Given the description of an element on the screen output the (x, y) to click on. 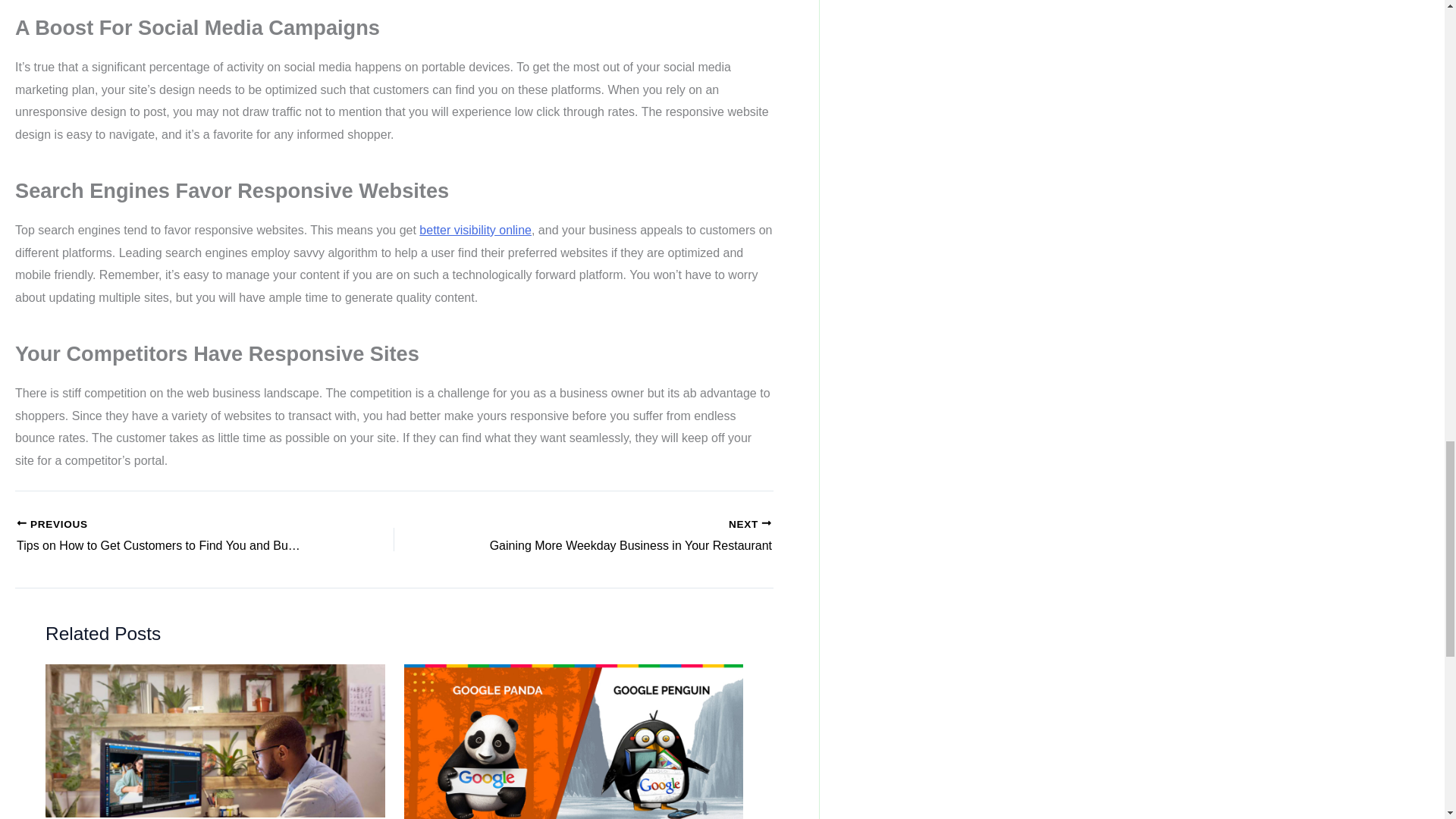
better visibility online (475, 229)
Tips on How to Get Customers to Find You and Buy from You (168, 536)
Gaining More Weekday Business in Your Restaurant (619, 536)
